Given the description of an element on the screen output the (x, y) to click on. 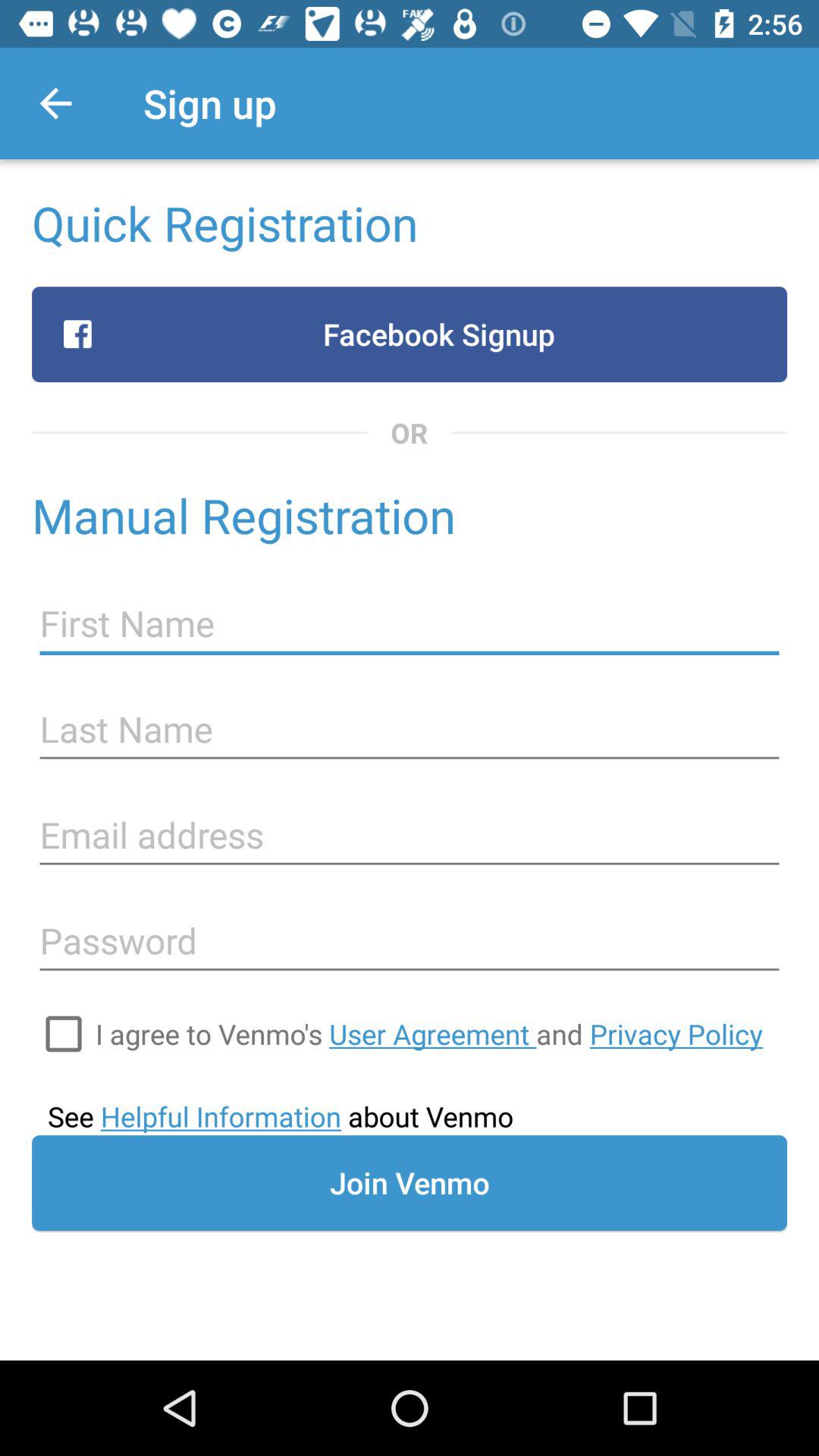
choose the join venmo icon (409, 1182)
